Given the description of an element on the screen output the (x, y) to click on. 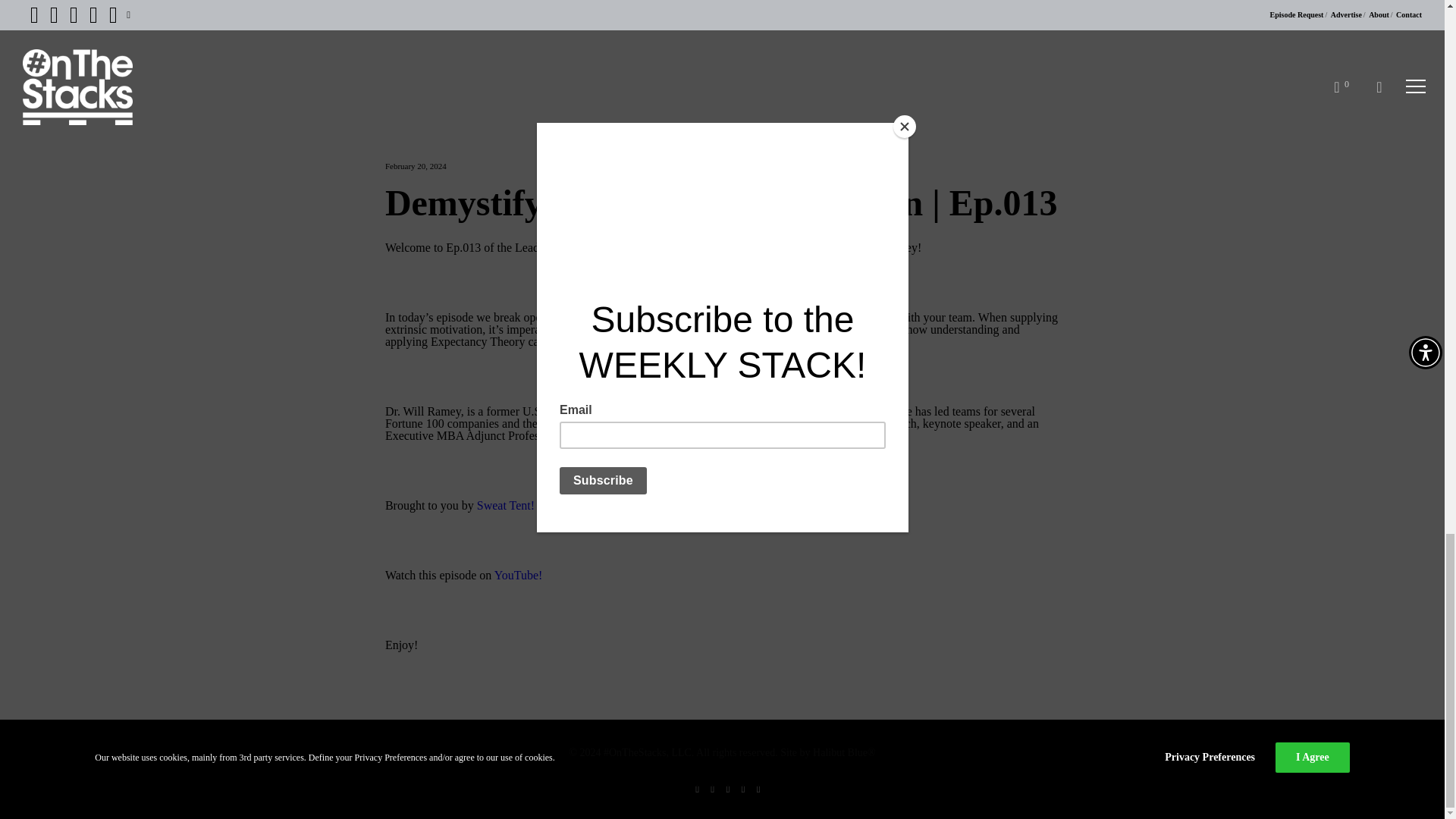
YouTube! (519, 574)
SweatTent.com (764, 504)
Sweat Tent! (505, 504)
